Given the description of an element on the screen output the (x, y) to click on. 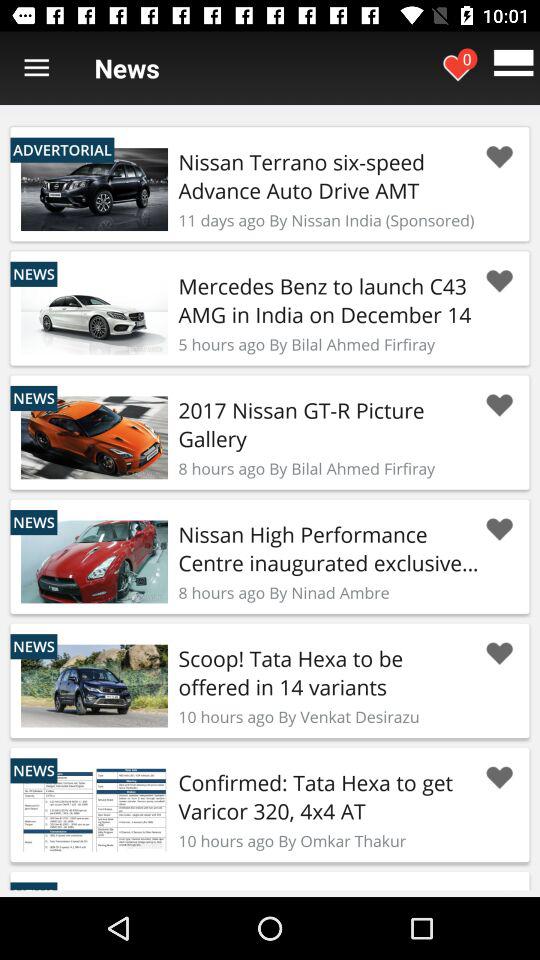
turn off the icon to the left of the news (36, 68)
